Given the description of an element on the screen output the (x, y) to click on. 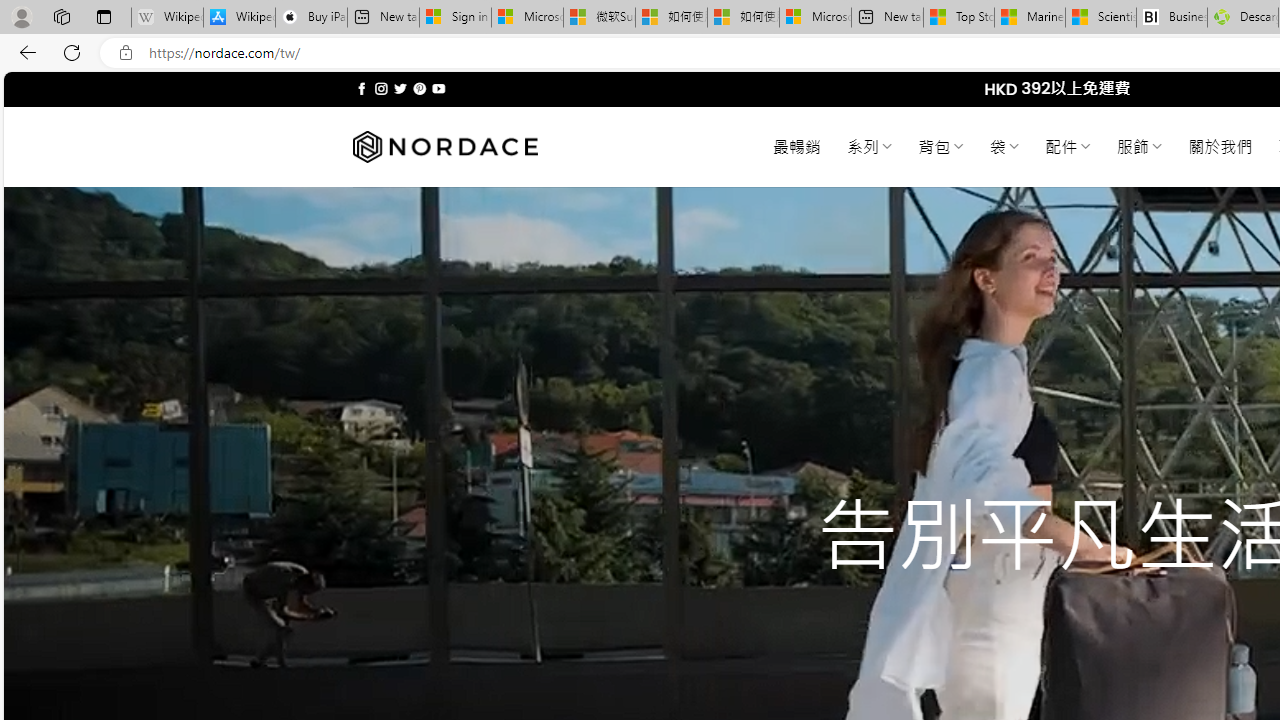
Follow on Facebook (361, 88)
Follow on Pinterest (419, 88)
Buy iPad - Apple (311, 17)
